Given the description of an element on the screen output the (x, y) to click on. 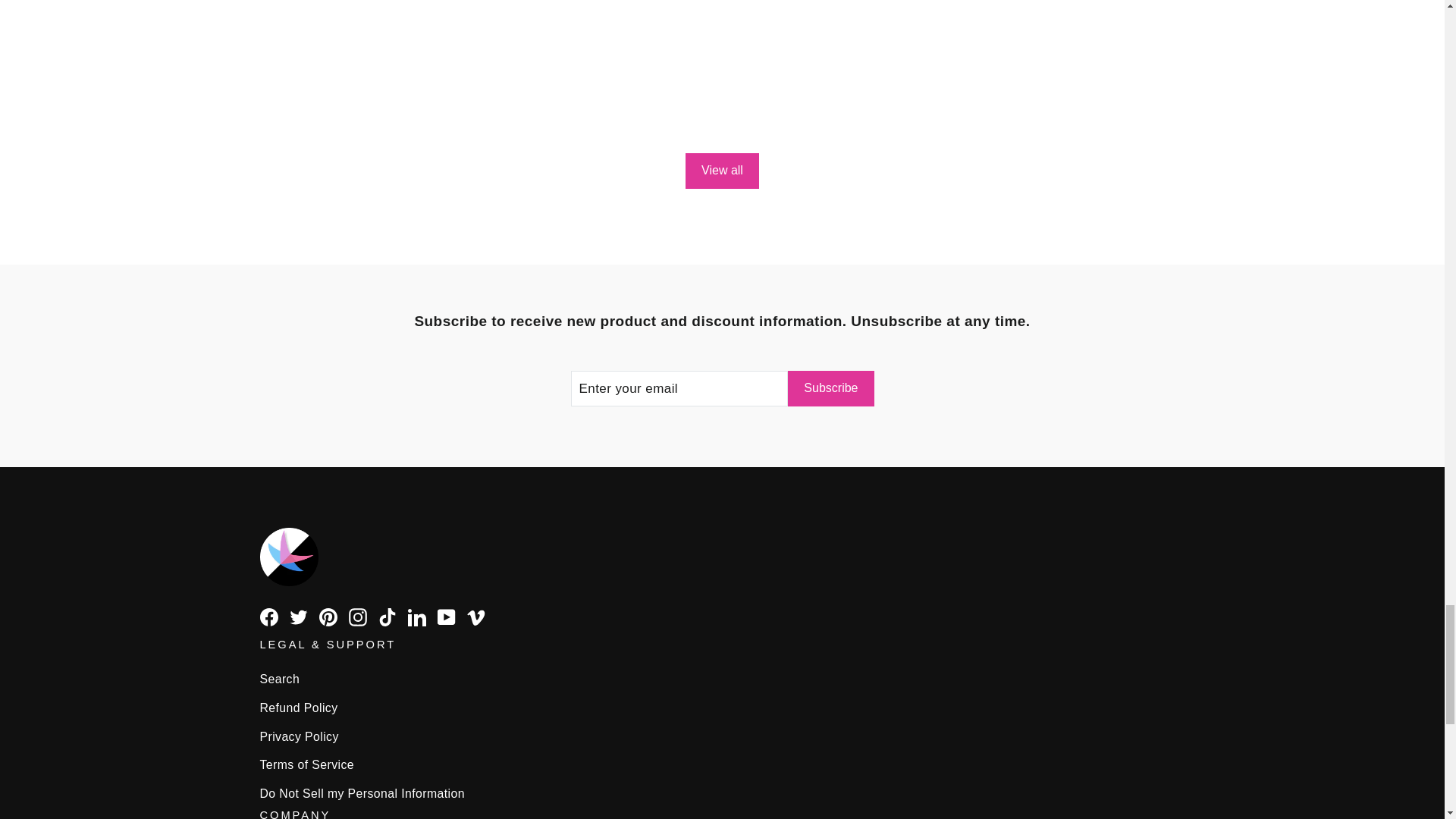
AxureBoutique on Instagram (357, 616)
AxureBoutique on YouTube (445, 616)
AxureBoutique on Twitter (298, 616)
AxureBoutique on LinkedIn (416, 616)
AxureBoutique on Pinterest (327, 616)
